Given the description of an element on the screen output the (x, y) to click on. 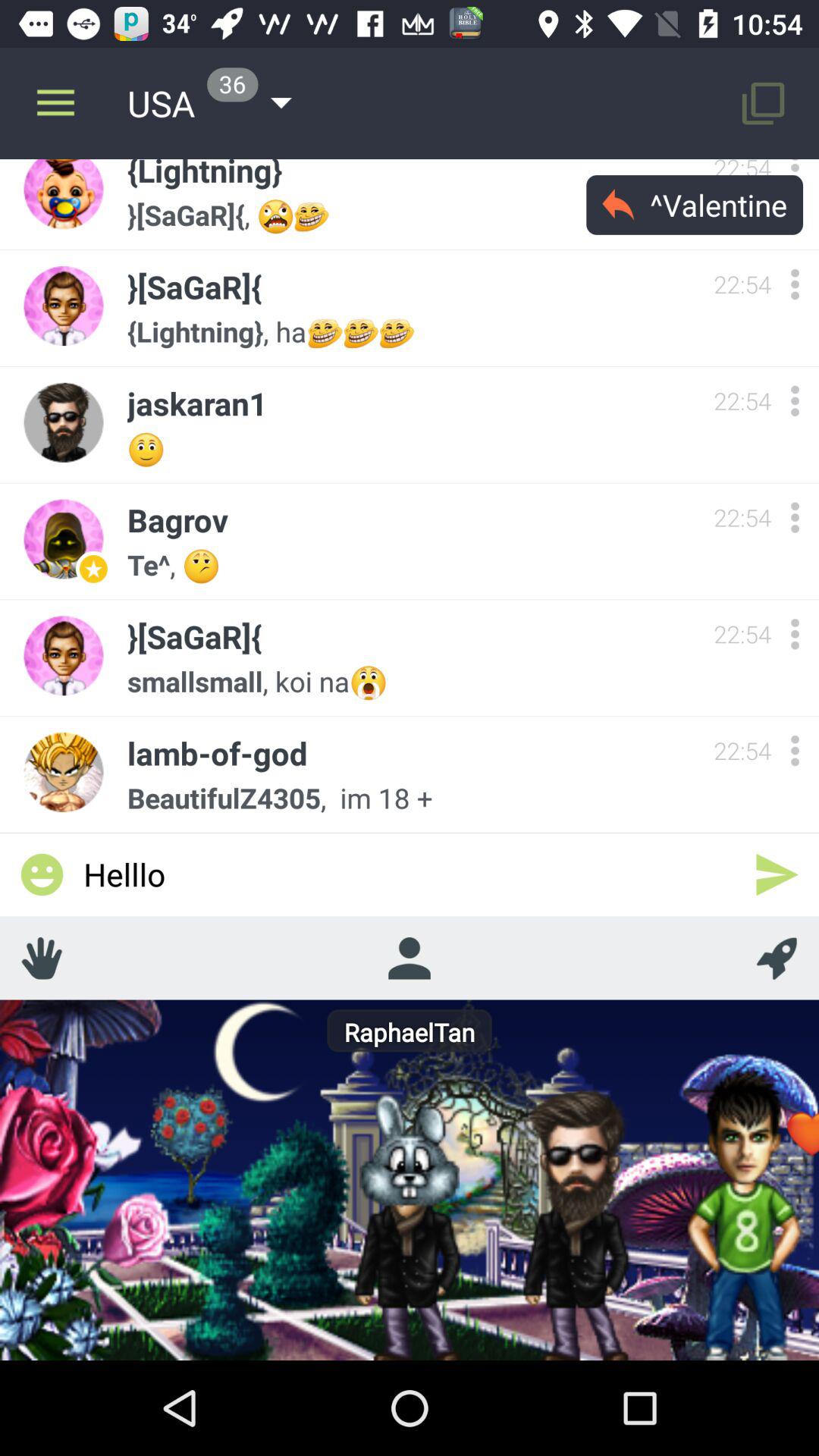
smiley (41, 874)
